Given the description of an element on the screen output the (x, y) to click on. 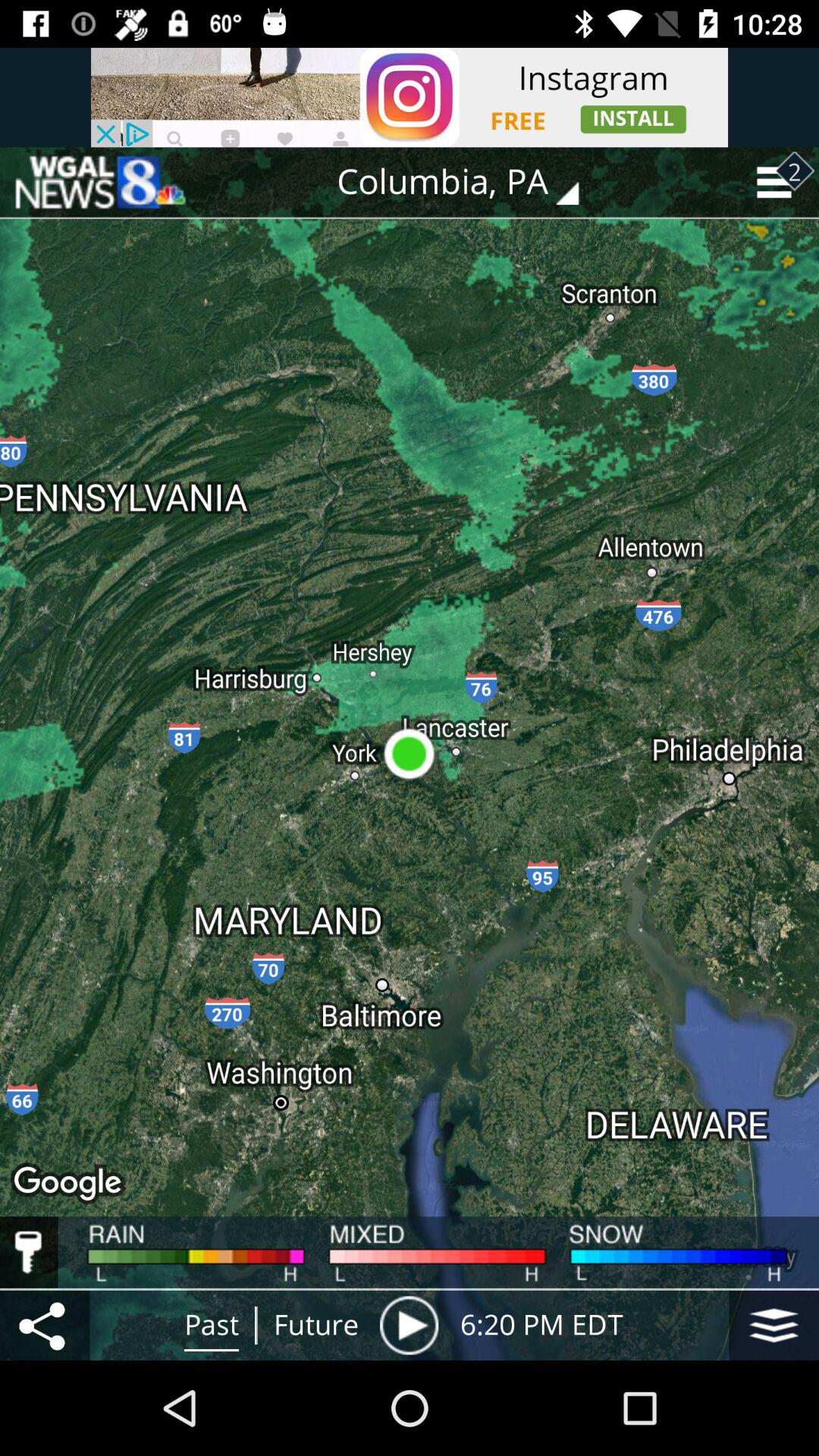
click item to the left of columbia, pa (99, 182)
